Given the description of an element on the screen output the (x, y) to click on. 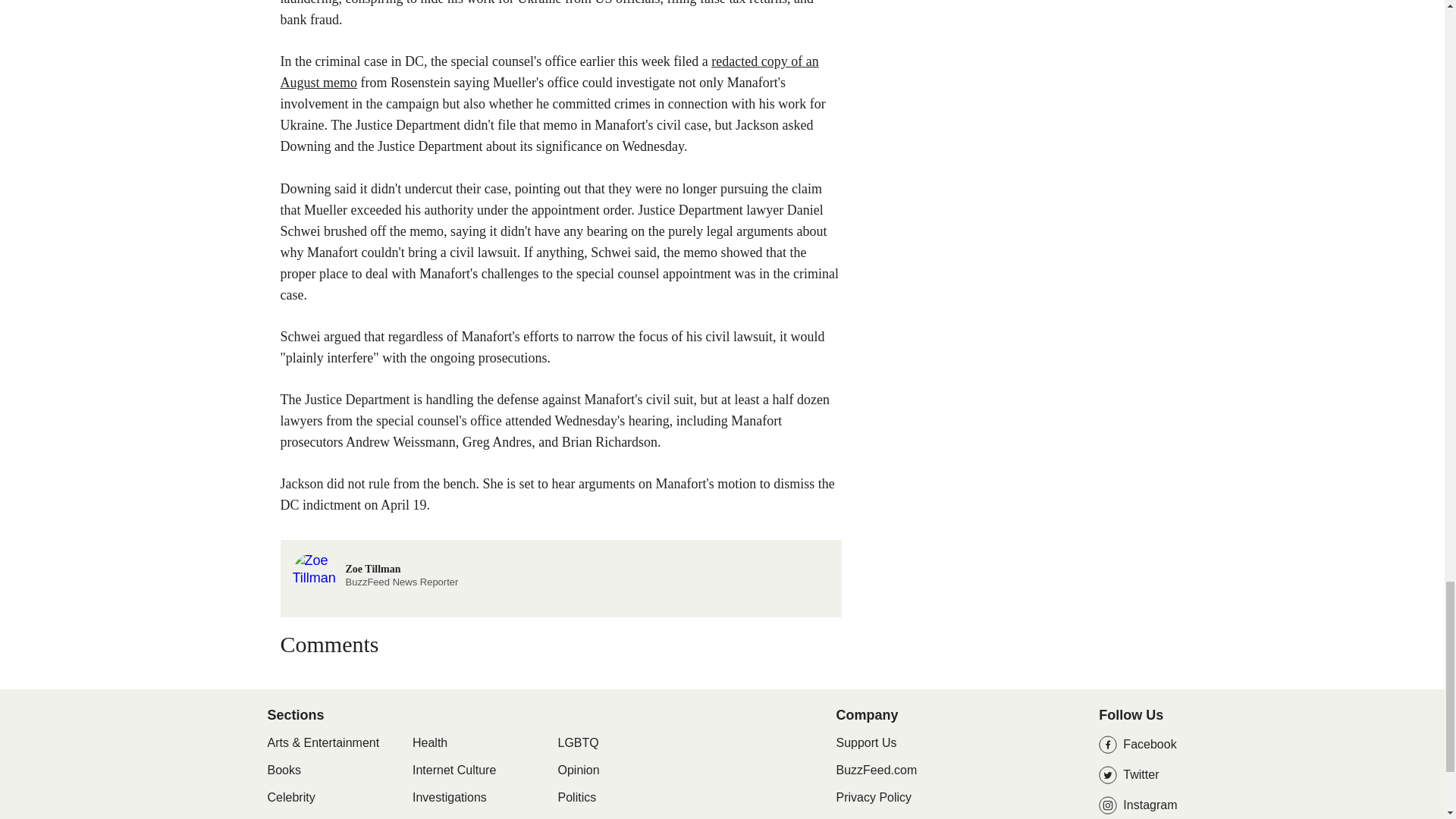
LGBTQ (577, 743)
Facebook (1137, 744)
Opinion (578, 770)
Instagram (1137, 805)
Privacy Policy (873, 797)
Politics (375, 560)
Investigations (576, 797)
User Agreement (449, 797)
Tech (429, 743)
Twitter (570, 818)
BuzzFeed.com (1137, 774)
Celebrity (876, 769)
JPG (290, 797)
